Given the description of an element on the screen output the (x, y) to click on. 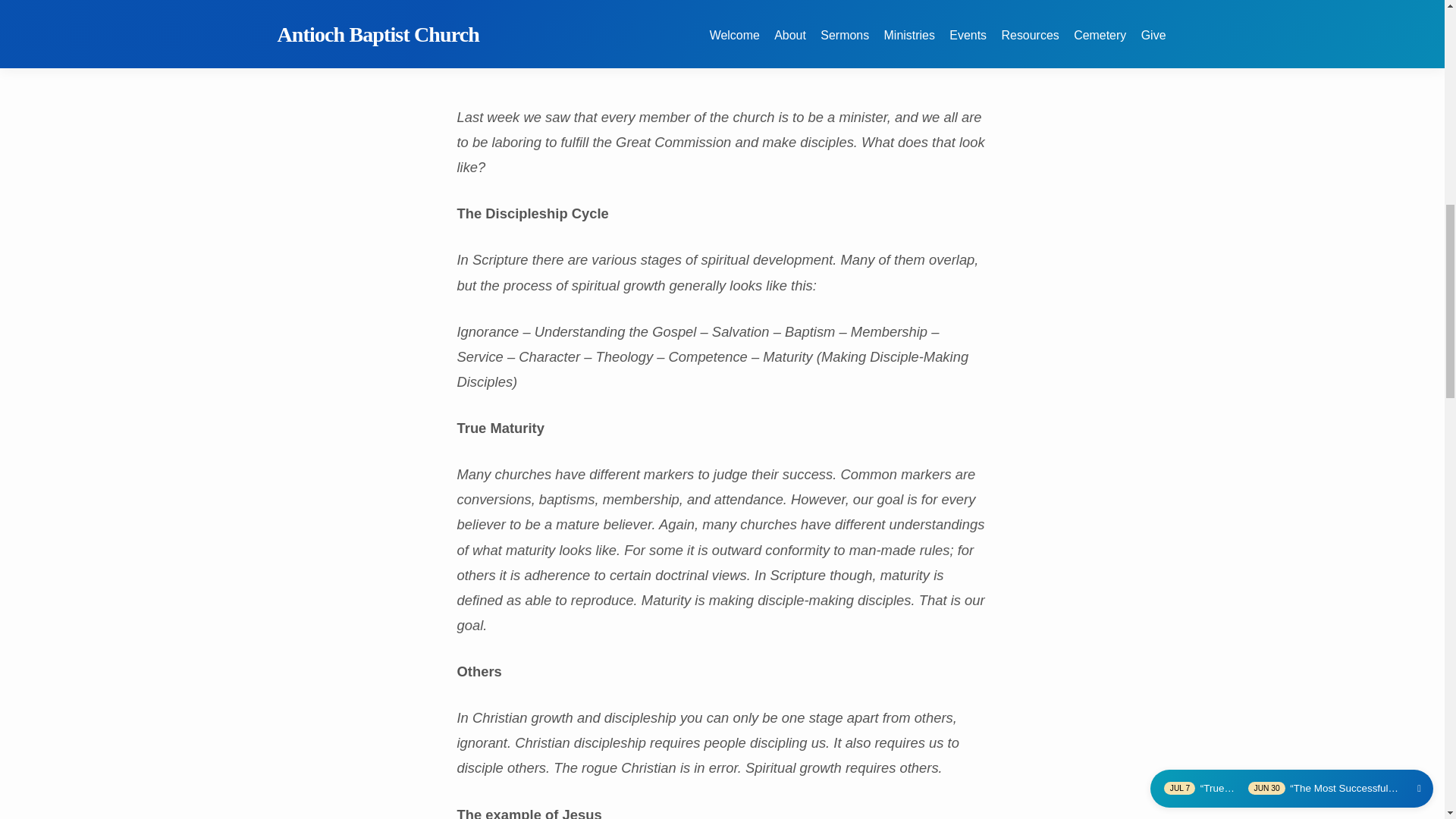
"Maturity is the Goal" - Hebrews 5:12-6:3 (721, 31)
